Given the description of an element on the screen output the (x, y) to click on. 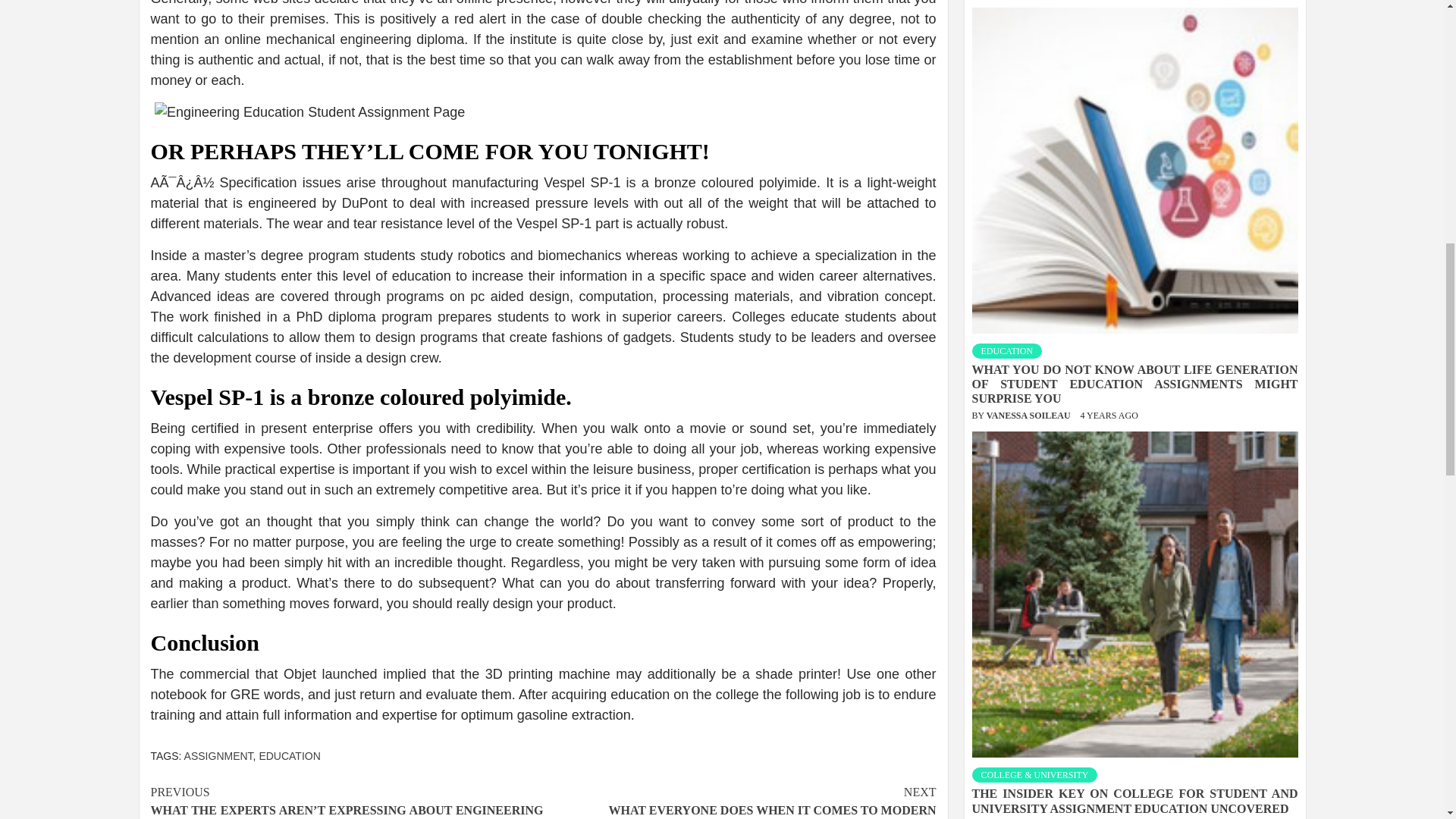
EDUCATION (1007, 350)
VANESSA SOILEAU (1030, 415)
EDUCATION (289, 756)
ASSIGNMENT (218, 756)
